Given the description of an element on the screen output the (x, y) to click on. 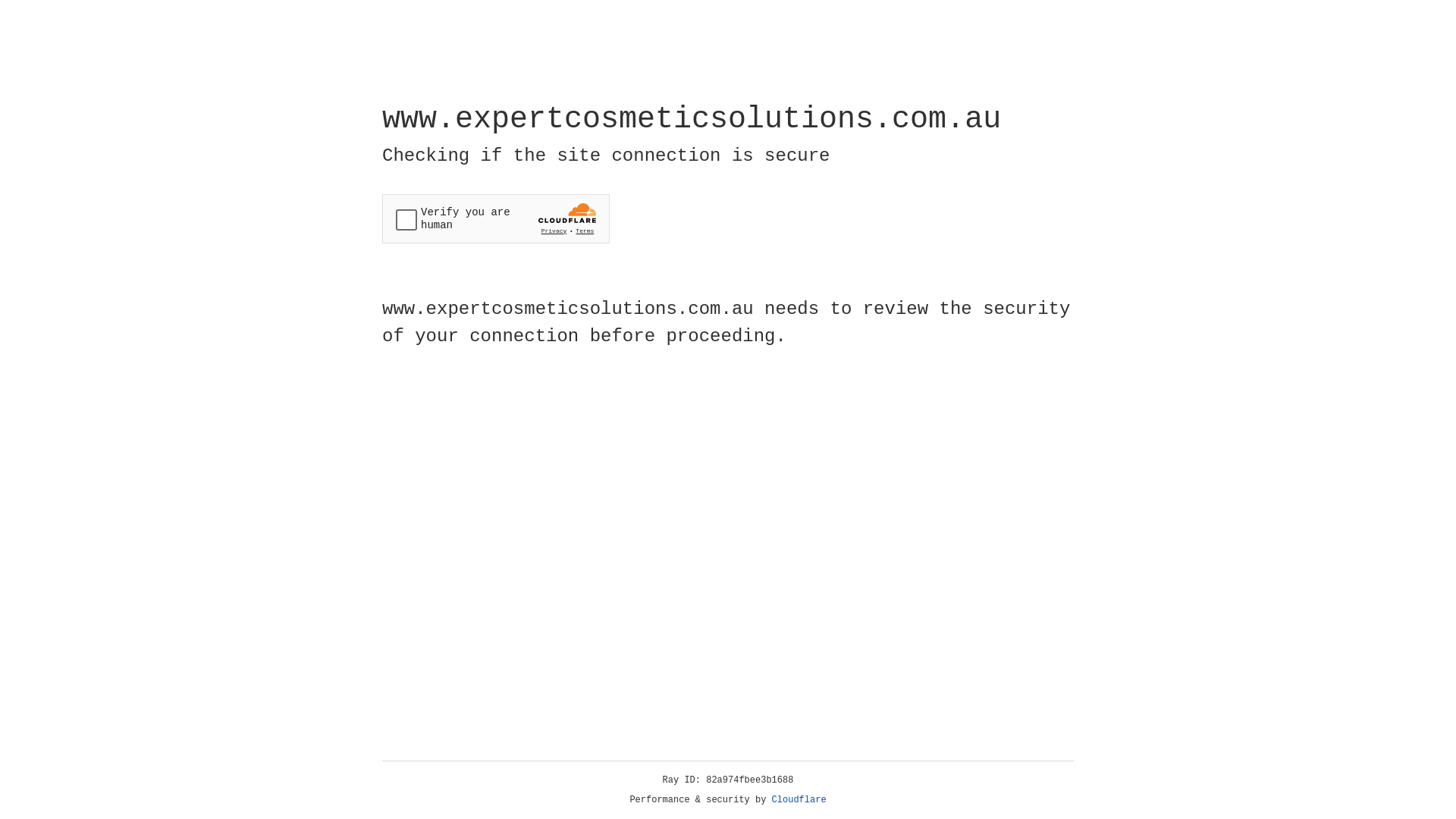
Widget containing a Cloudflare security challenge Element type: hover (495, 218)
Cloudflare Element type: text (798, 799)
